Given the description of an element on the screen output the (x, y) to click on. 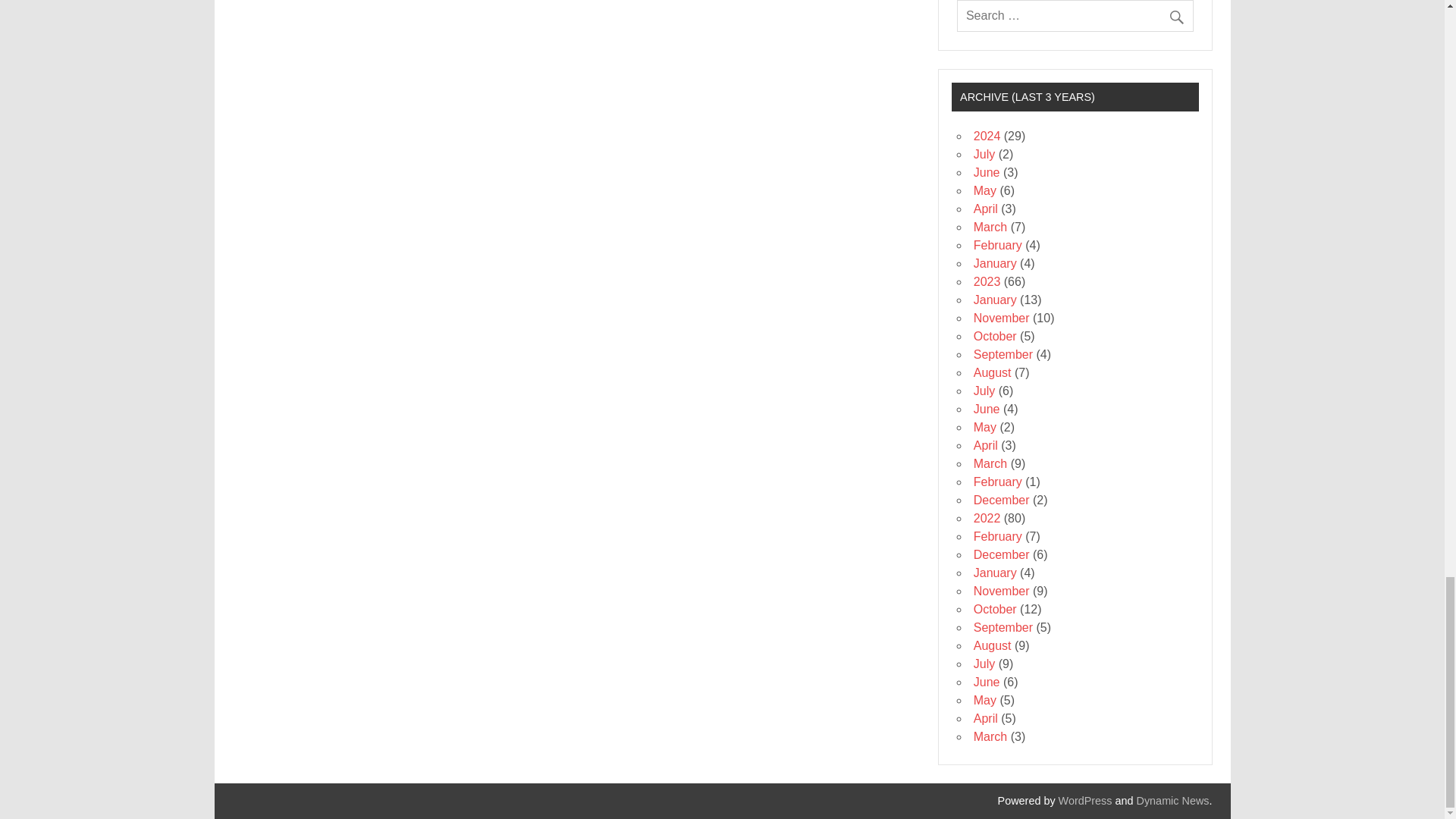
WordPress (1085, 800)
Dynamic News WordPress Theme (1173, 800)
